Given the description of an element on the screen output the (x, y) to click on. 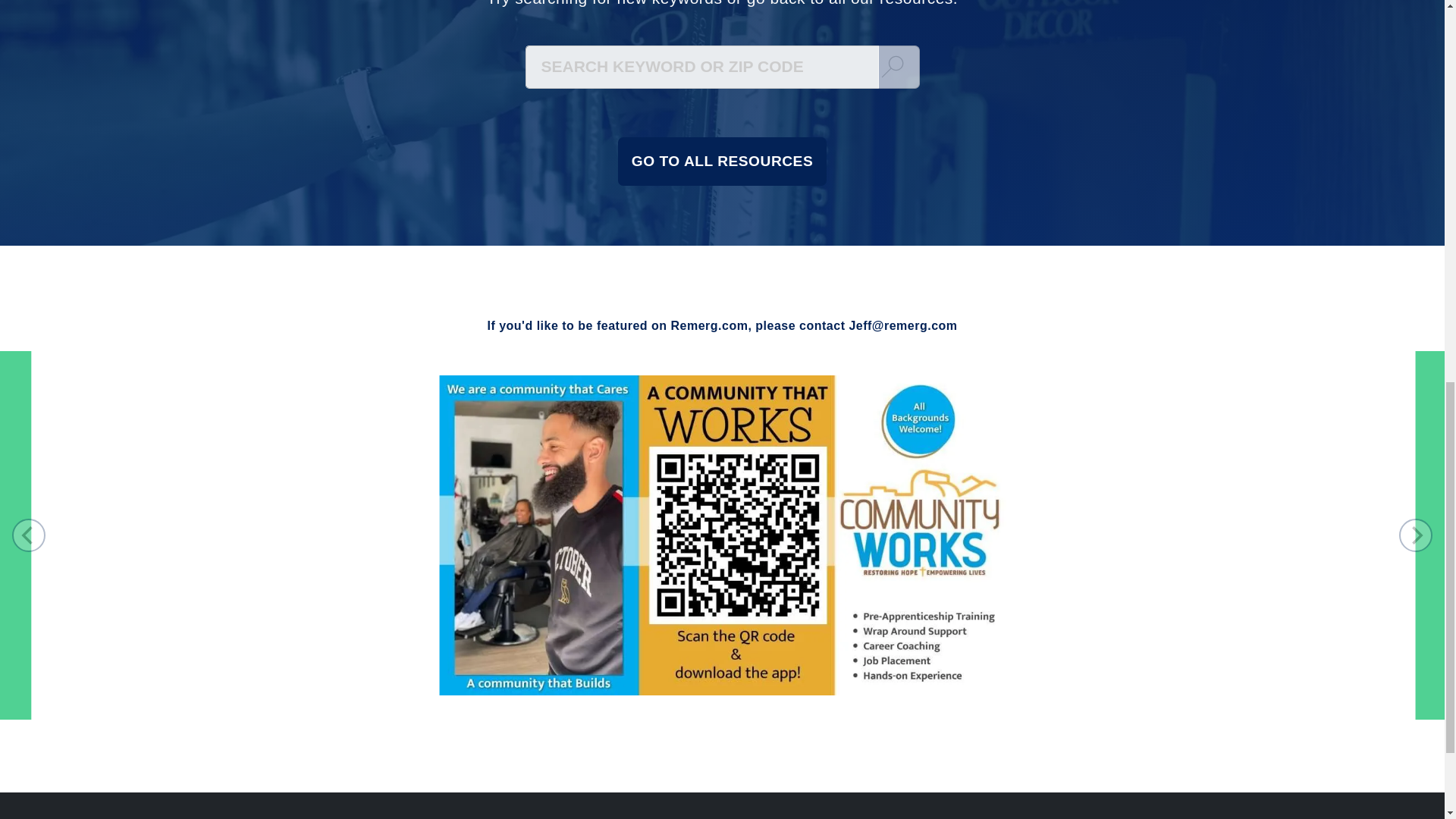
GO TO ALL RESOURCES (722, 161)
